Given the description of an element on the screen output the (x, y) to click on. 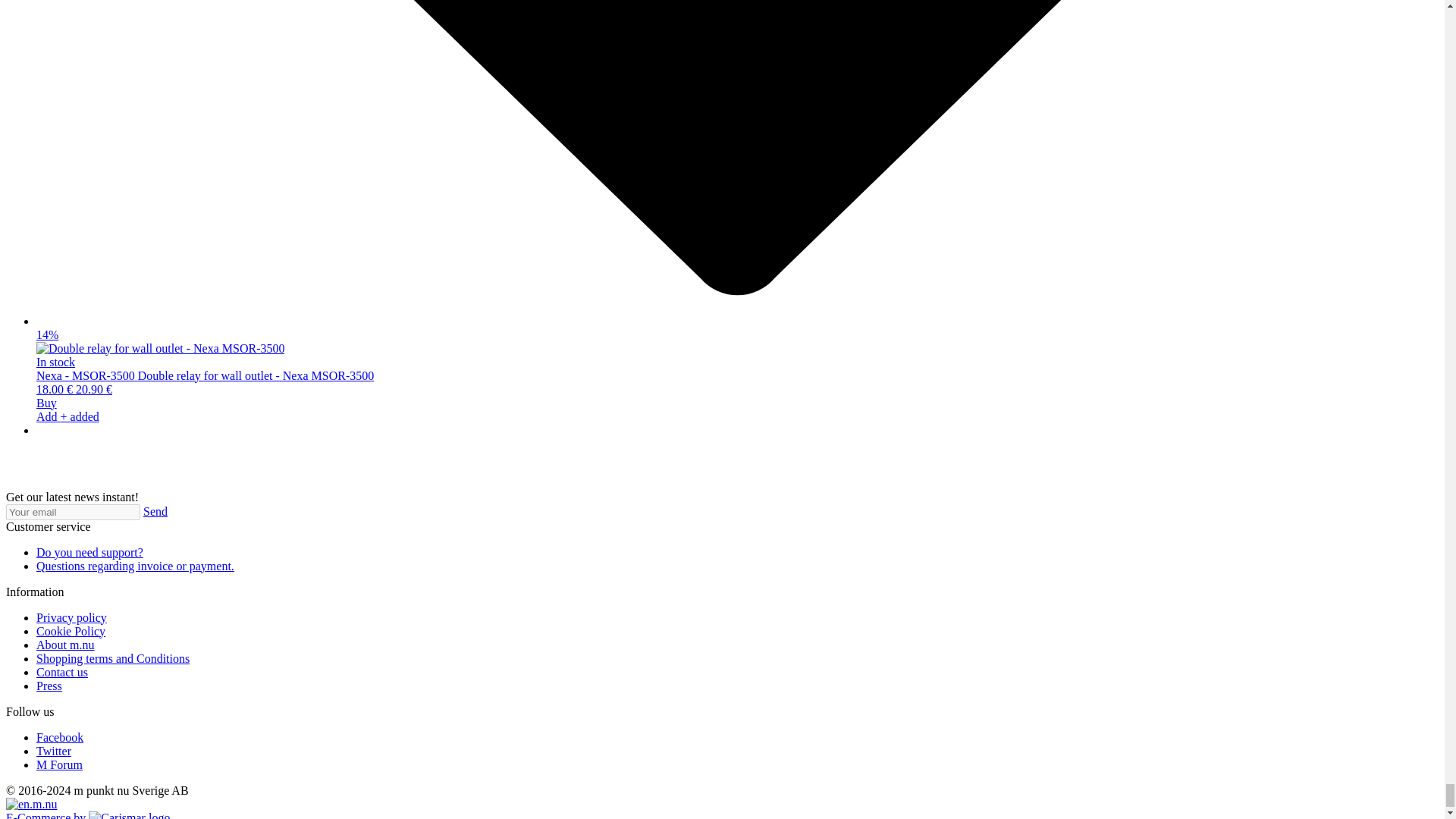
en.m.nu (31, 804)
Double relay for wall outlet - Nexa MSOR-3500 (159, 348)
